Given the description of an element on the screen output the (x, y) to click on. 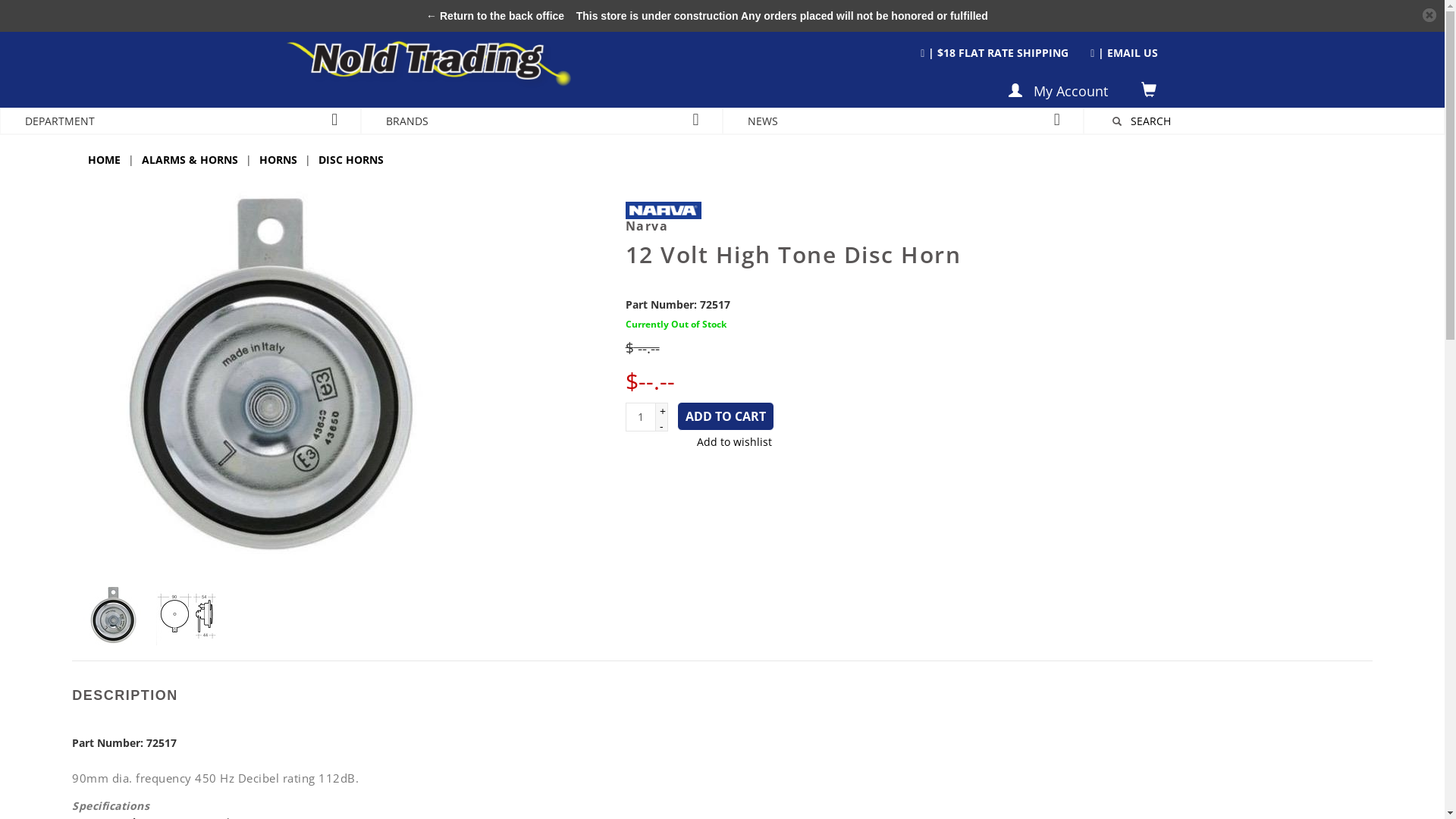
HOME Element type: text (104, 159)
Hide Element type: hover (1429, 15)
| $18 FLAT RATE SHIPPING Element type: text (994, 52)
Narva 12 Volt High Tone Disc Horn Element type: hover (186, 614)
Narva 12 Volt High Tone Disc Horn Element type: hover (113, 614)
Narva Element type: text (993, 222)
Cart Element type: hover (1149, 90)
Add to wishlist Element type: text (698, 441)
Nold Trading Pty Ltd Element type: hover (431, 68)
ADD TO CART Element type: text (725, 415)
DISC HORNS Element type: text (350, 159)
- Element type: text (661, 425)
| EMAIL US Element type: text (1114, 52)
+ Element type: text (661, 410)
My Account Element type: text (1057, 90)
HORNS Element type: text (277, 159)
ALARMS & HORNS Element type: text (189, 159)
SEARCH Element type: text (1150, 120)
